Given the description of an element on the screen output the (x, y) to click on. 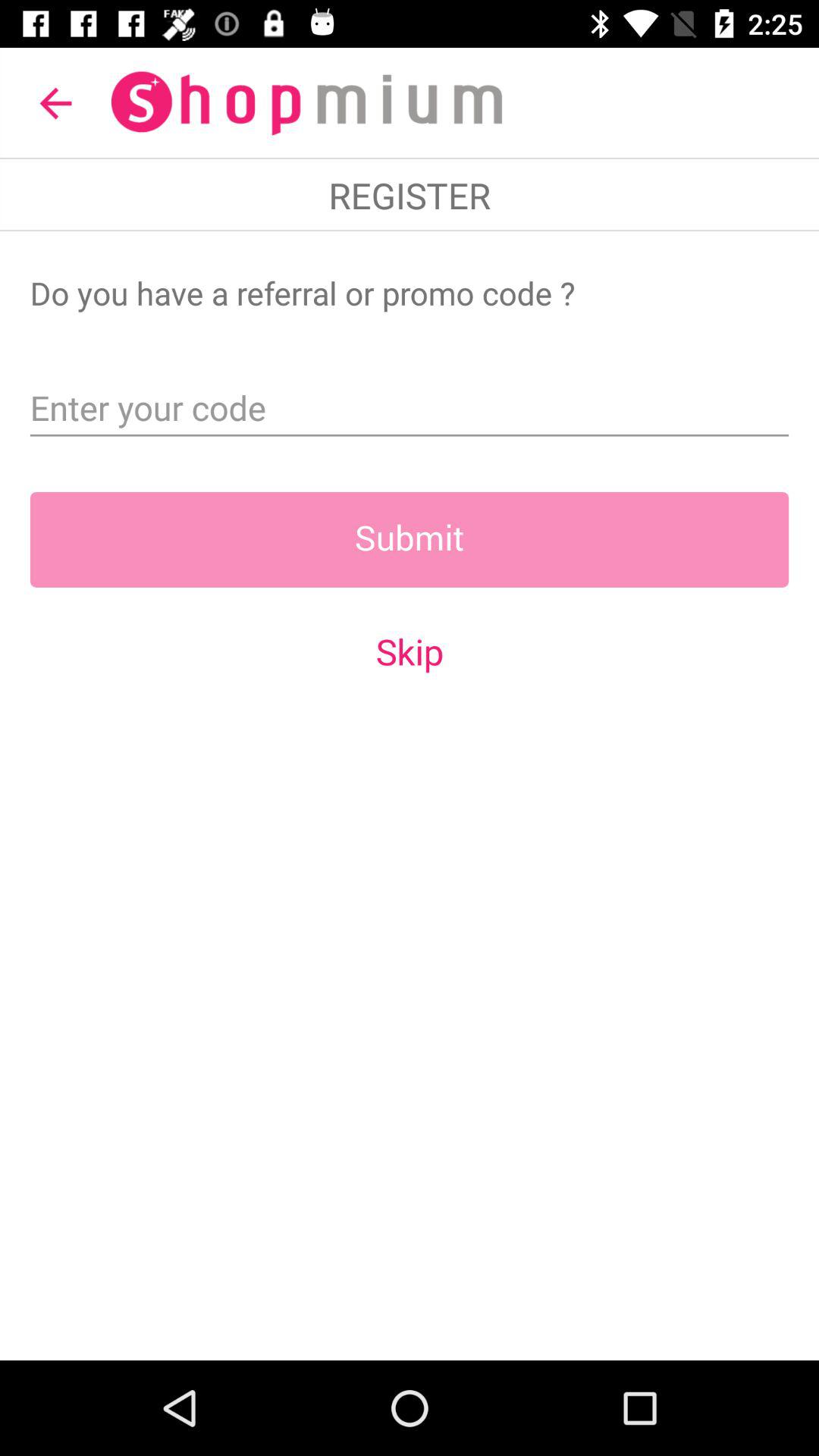
code data input line (409, 403)
